Given the description of an element on the screen output the (x, y) to click on. 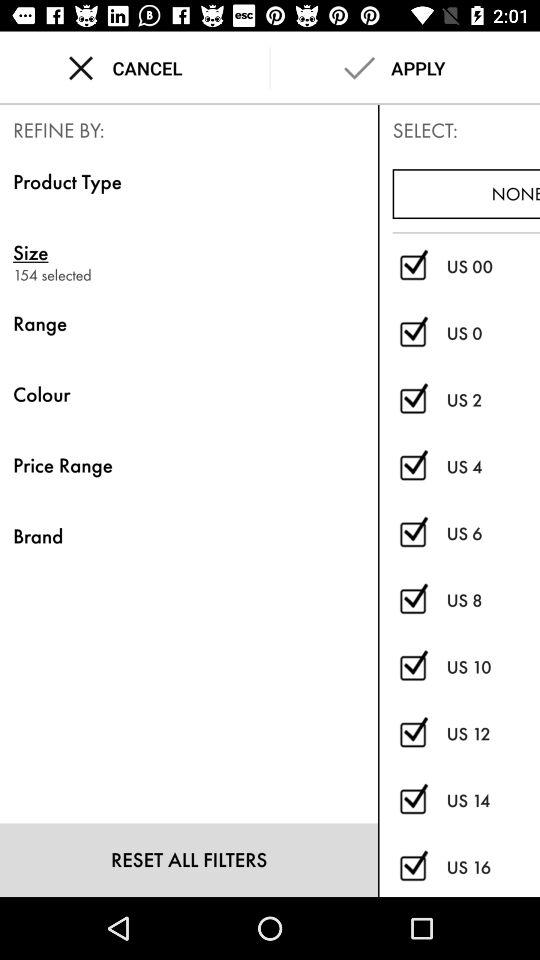
us 4 checkbox (412, 467)
